Given the description of an element on the screen output the (x, y) to click on. 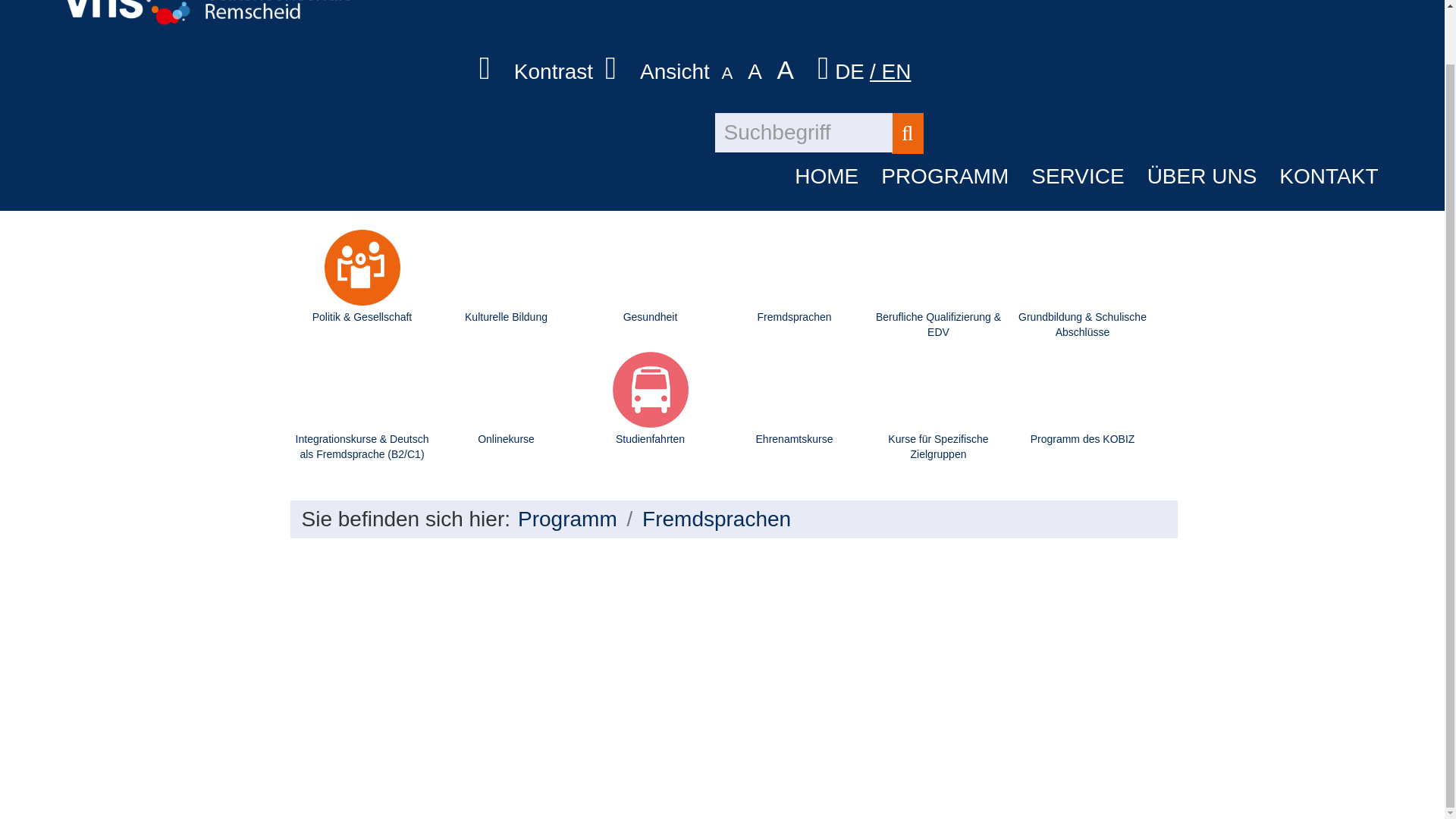
DE (851, 71)
SERVICE (1077, 176)
auf Englisch (892, 71)
KONTAKT (1328, 176)
Kontrastreich Darstellung (567, 69)
auf Deutsch (851, 71)
HOME (826, 176)
Kontrast   (567, 69)
A  (762, 71)
PROGRAMM (944, 176)
